Given the description of an element on the screen output the (x, y) to click on. 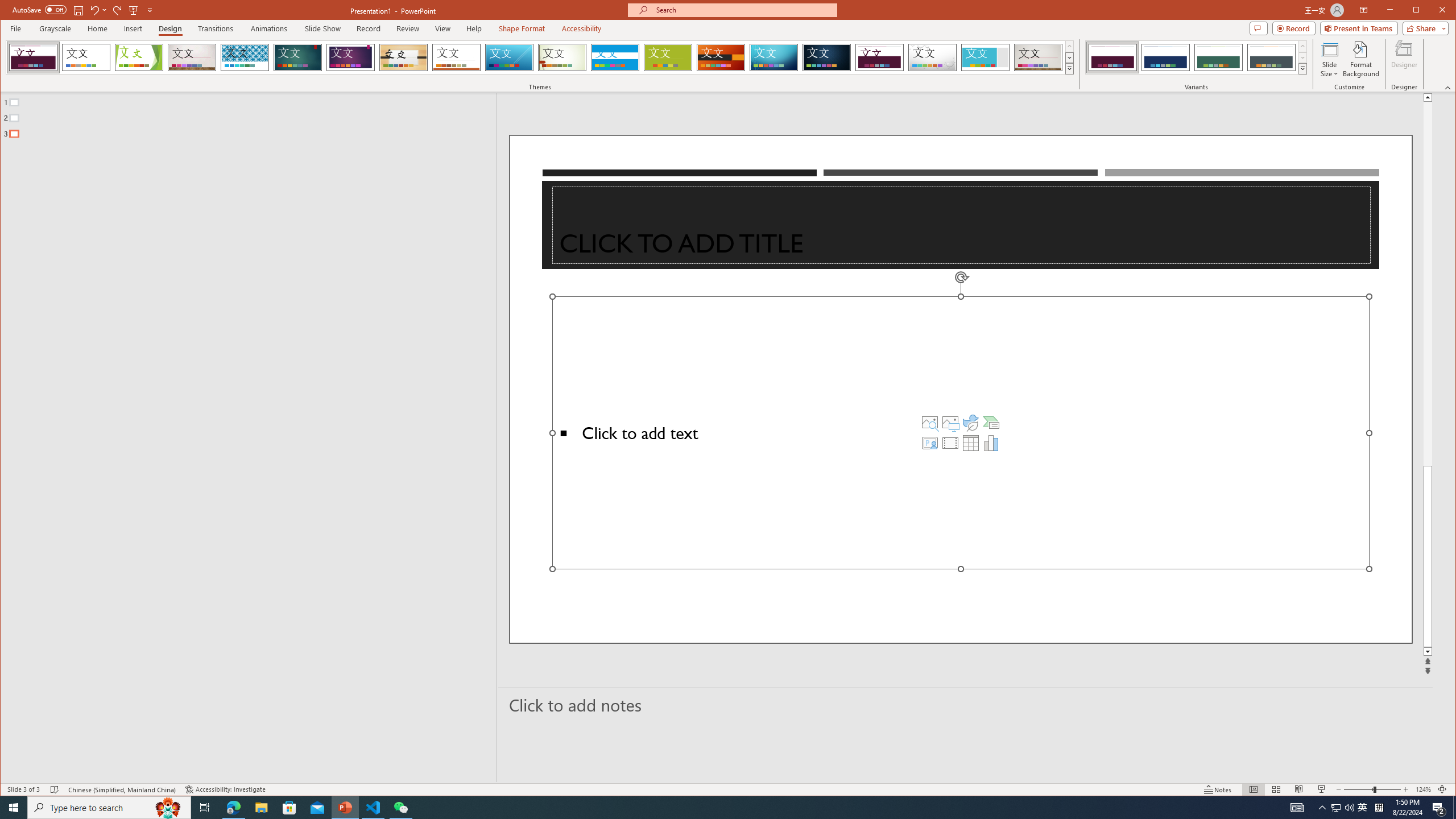
Banded (615, 57)
Office Theme (85, 57)
Berlin (720, 57)
Themes (1069, 68)
